Given the description of an element on the screen output the (x, y) to click on. 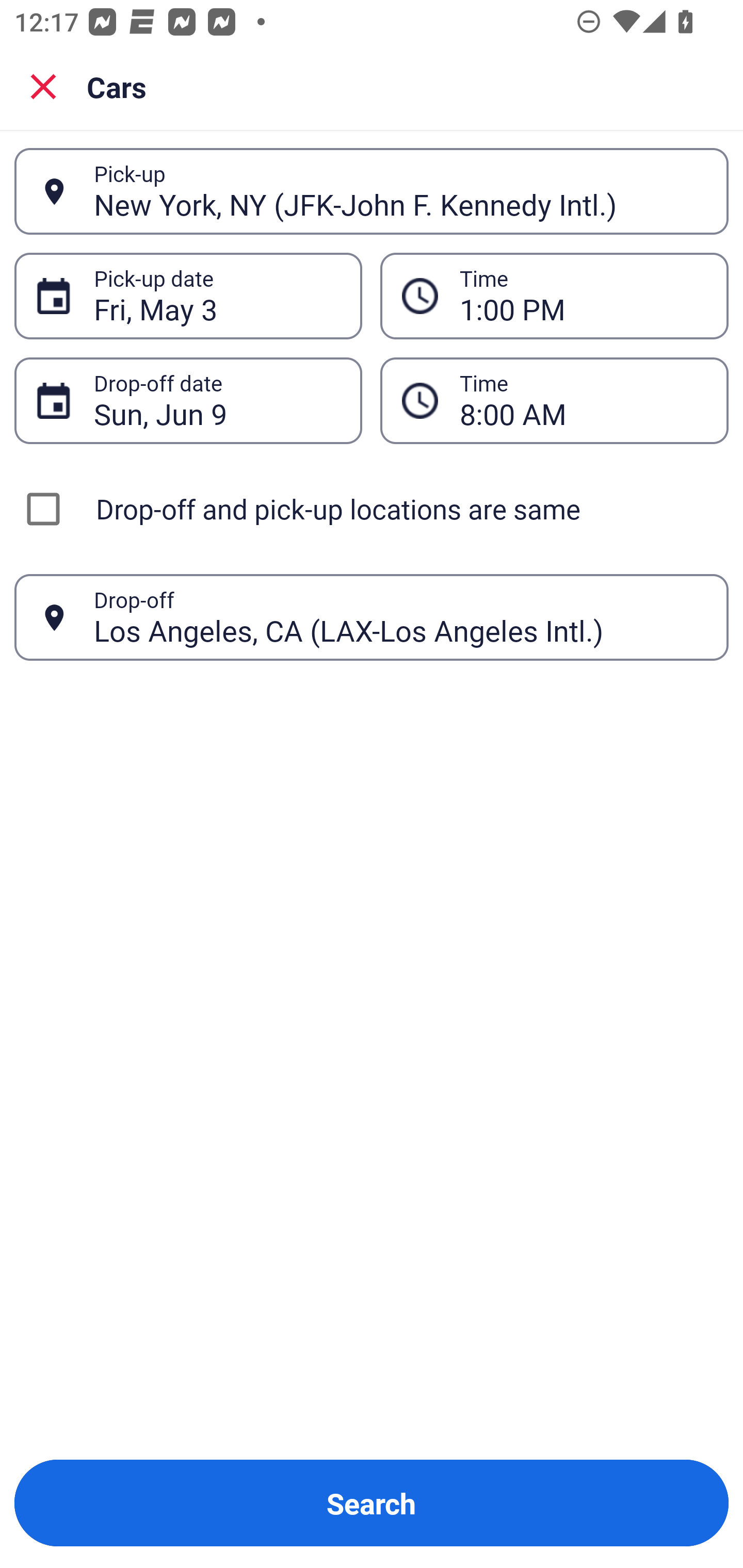
Close search screen (43, 86)
New York, NY (JFK-John F. Kennedy Intl.) Pick-up (371, 191)
New York, NY (JFK-John F. Kennedy Intl.) (399, 191)
Fri, May 3 Pick-up date (188, 295)
1:00 PM (554, 295)
Fri, May 3 (216, 296)
1:00 PM (582, 296)
Sun, Jun 9 Drop-off date (188, 400)
8:00 AM (554, 400)
Sun, Jun 9 (216, 400)
8:00 AM (582, 400)
Drop-off and pick-up locations are same (371, 508)
Los Angeles, CA (LAX-Los Angeles Intl.) Drop-off (371, 616)
Los Angeles, CA (LAX-Los Angeles Intl.) (399, 616)
Search Button Search (371, 1502)
